Given the description of an element on the screen output the (x, y) to click on. 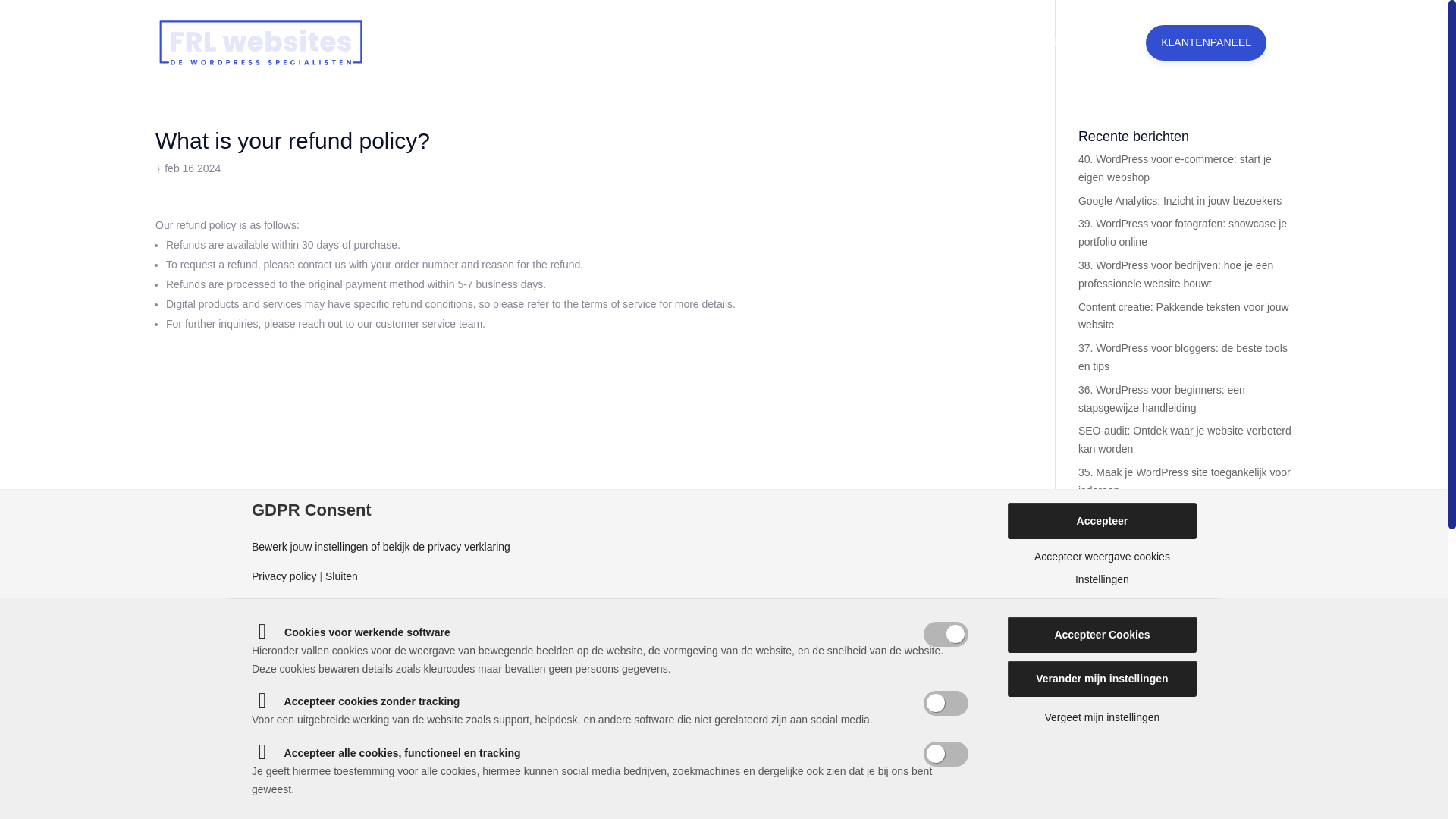
36. WordPress voor beginners: een stapsgewijze handleiding (1161, 399)
Volg op Instagram (724, 450)
40. WordPress voor e-commerce: start je eigen webshop (1174, 168)
CONTACT (1017, 53)
Google Analytics: Inzicht in jouw bezoekers (1179, 200)
Content creatie: Pakkende teksten voor jouw website (1183, 316)
